Given the description of an element on the screen output the (x, y) to click on. 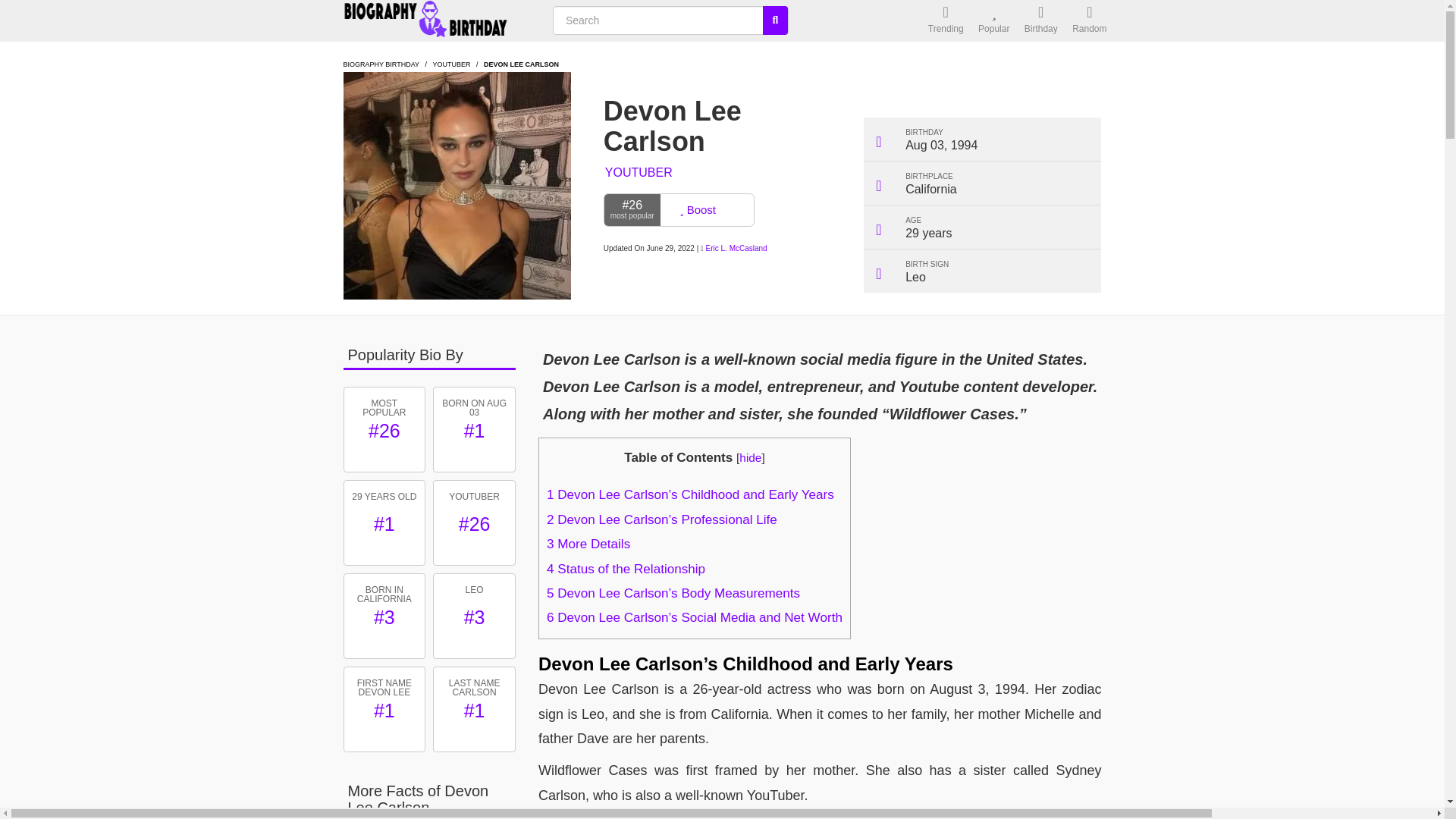
Biography Birthday (438, 21)
trending (945, 21)
popular (993, 21)
California (930, 188)
3 More Details (588, 544)
hide (750, 457)
YOUTUBER (451, 63)
29 years (928, 232)
Random (1088, 21)
YouTuber (451, 63)
